Given the description of an element on the screen output the (x, y) to click on. 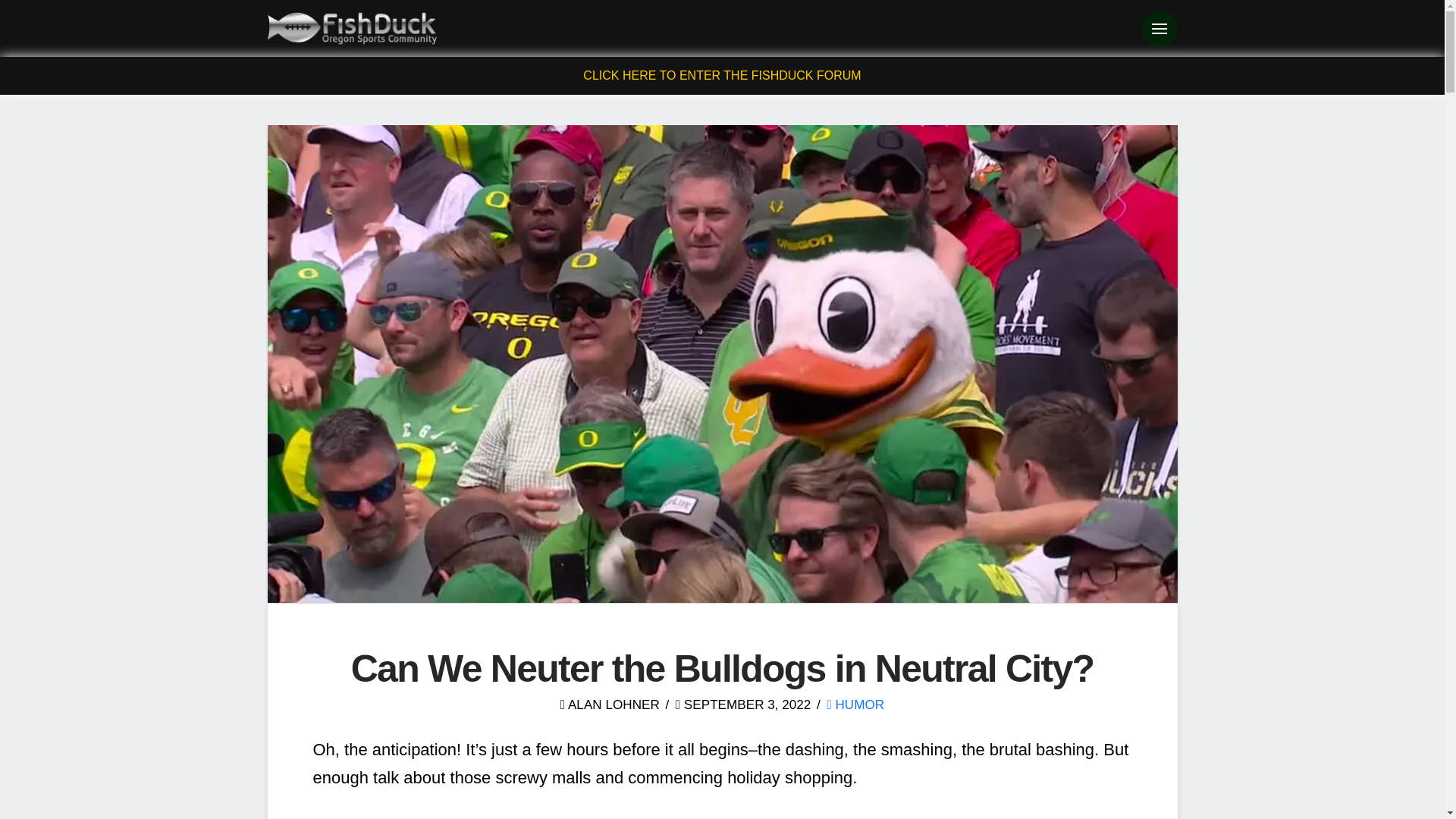
CLICK HERE TO ENTER THE FISHDUCK FORUM (721, 74)
HUMOR (855, 703)
